Given the description of an element on the screen output the (x, y) to click on. 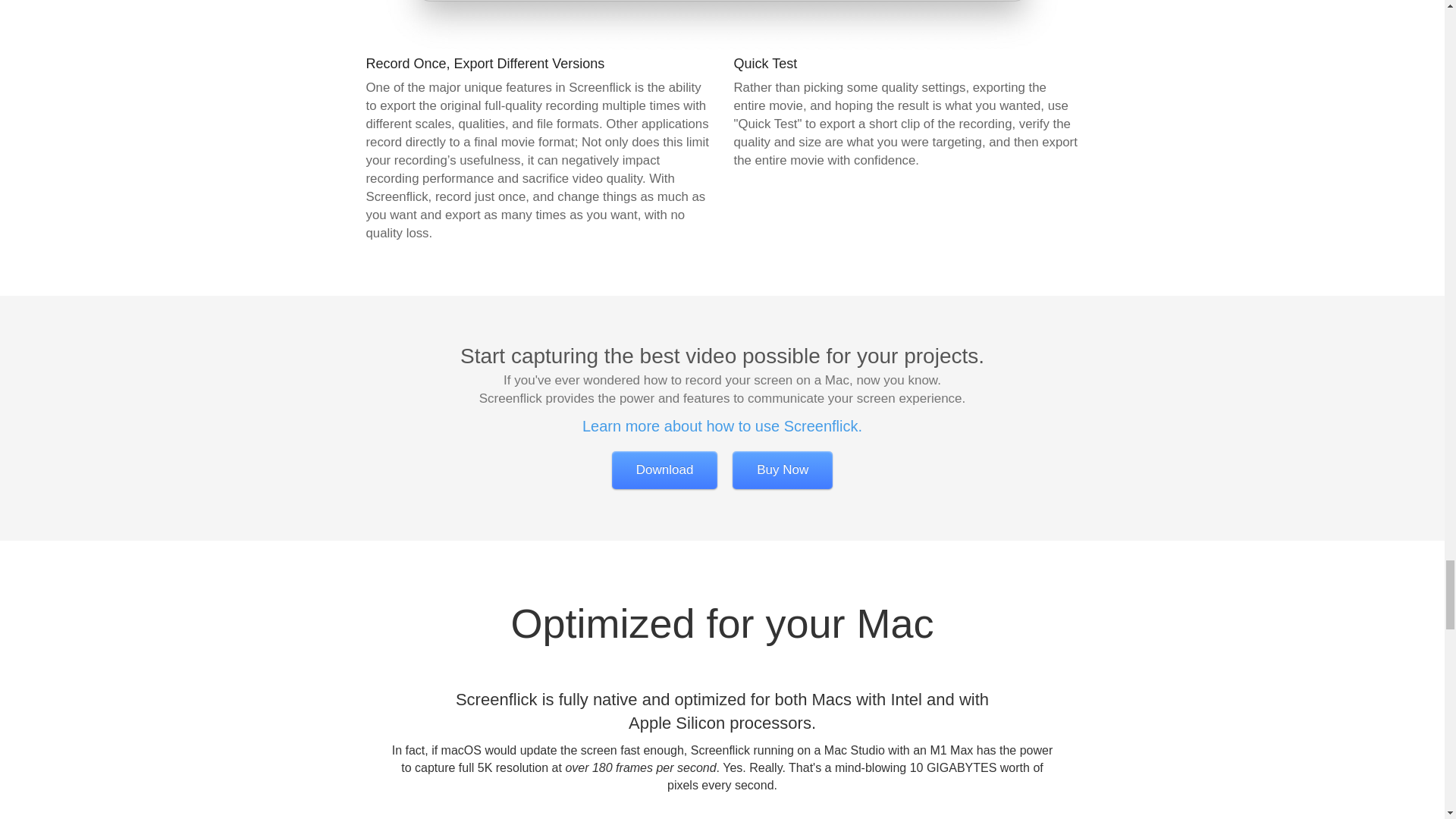
Buy Now (782, 469)
Learn more about how to use Screenflick. (721, 425)
Download (664, 469)
